Given the description of an element on the screen output the (x, y) to click on. 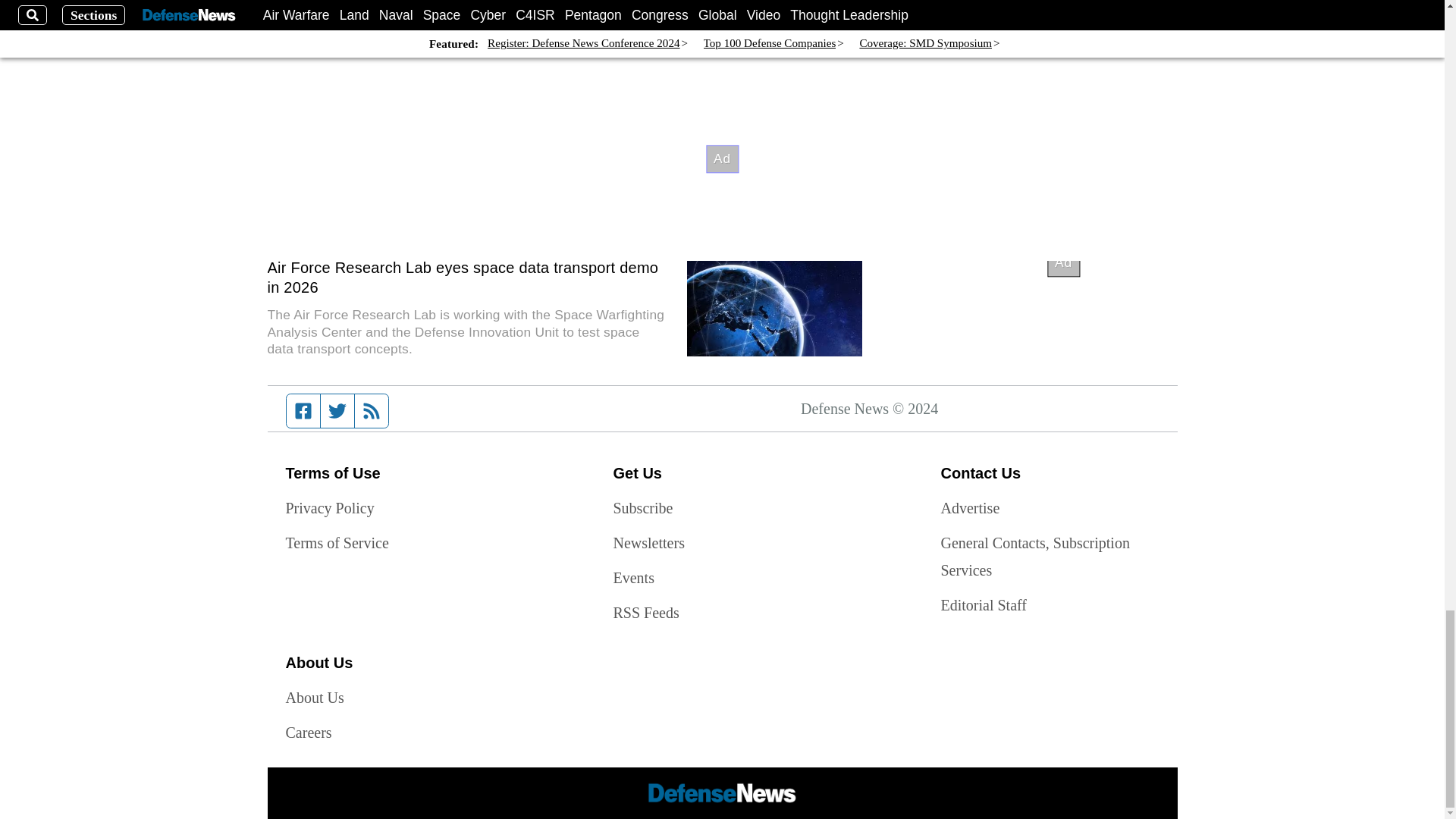
RSS feed (371, 410)
Facebook page (303, 410)
Twitter feed (336, 410)
